Given the description of an element on the screen output the (x, y) to click on. 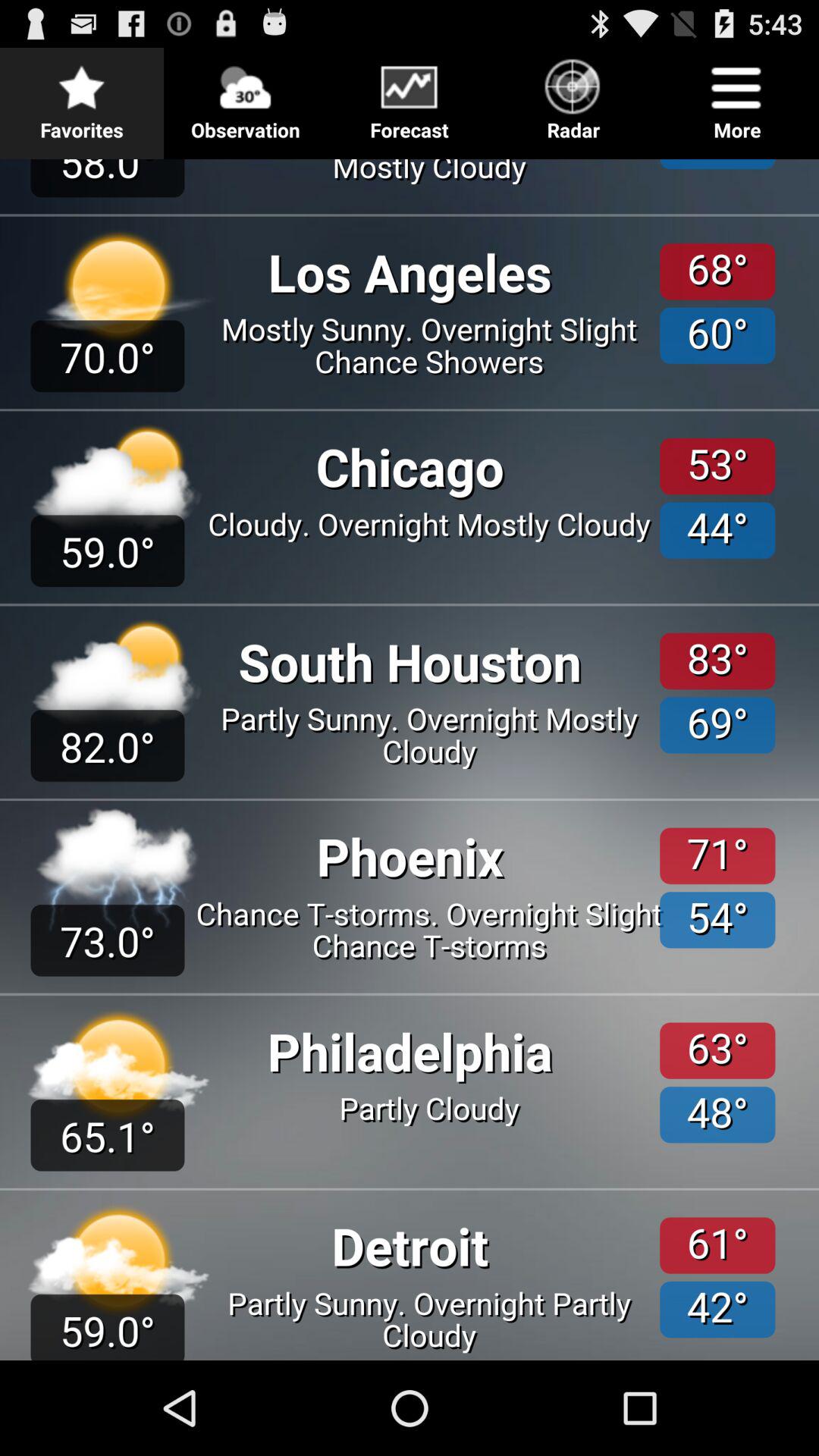
turn on the button next to the forecast item (245, 95)
